Given the description of an element on the screen output the (x, y) to click on. 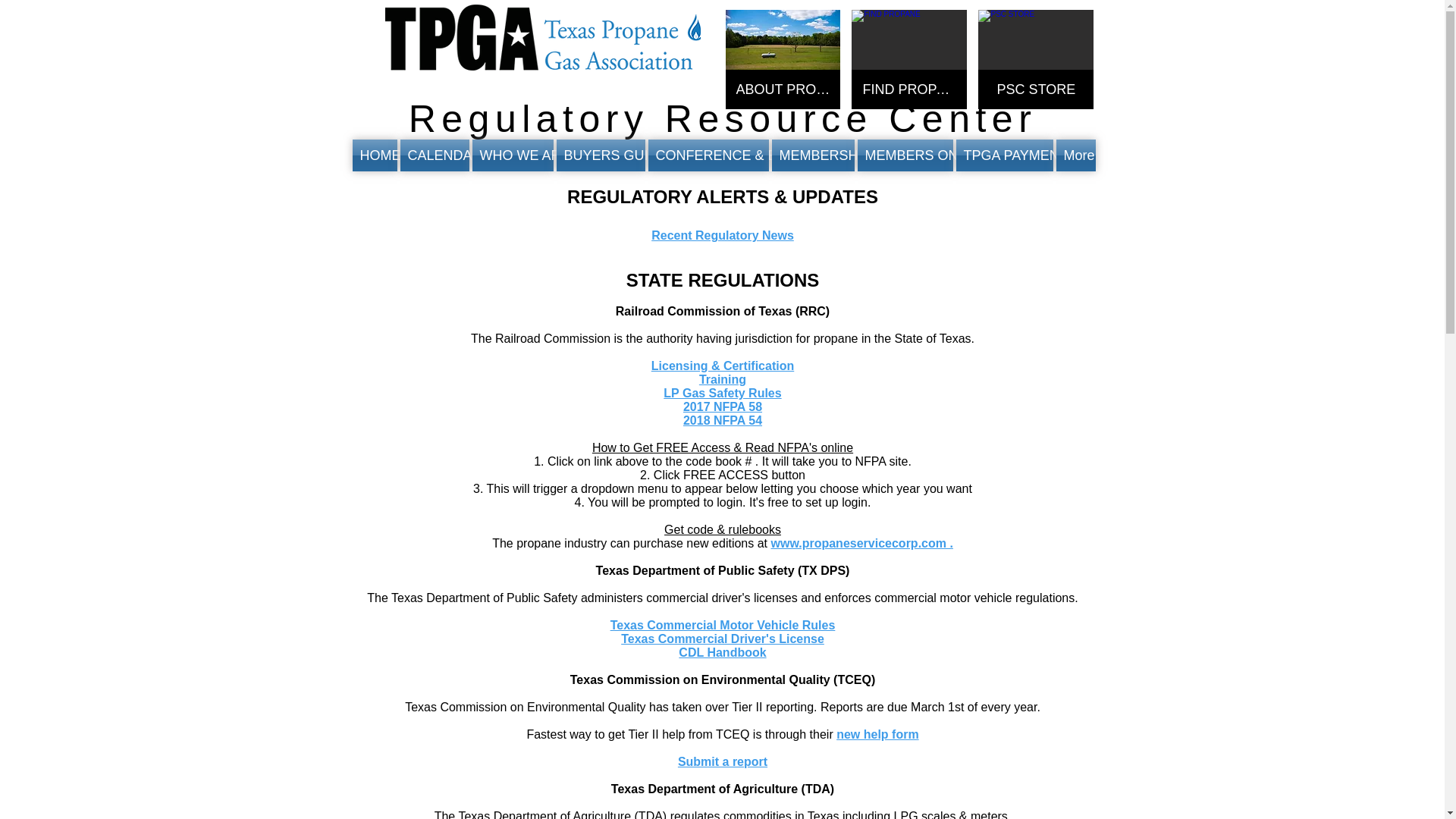
2018 NFPA 54 (721, 420)
Texas Commercial Driver's License (722, 638)
Training (721, 379)
www.propaneservicecorp.com . (861, 543)
HOME (374, 155)
FIND PROPANE (908, 58)
BUYERS GUIDE (600, 155)
ABOUT PROPANE (782, 58)
Submit a report (722, 761)
new help form (876, 734)
CALENDAR (434, 155)
LP Gas Safety Rules (721, 392)
CDL Handbook (721, 652)
PSC STORE (1035, 58)
Texas Commercial Motor Vehicle Rules (722, 625)
